Given the description of an element on the screen output the (x, y) to click on. 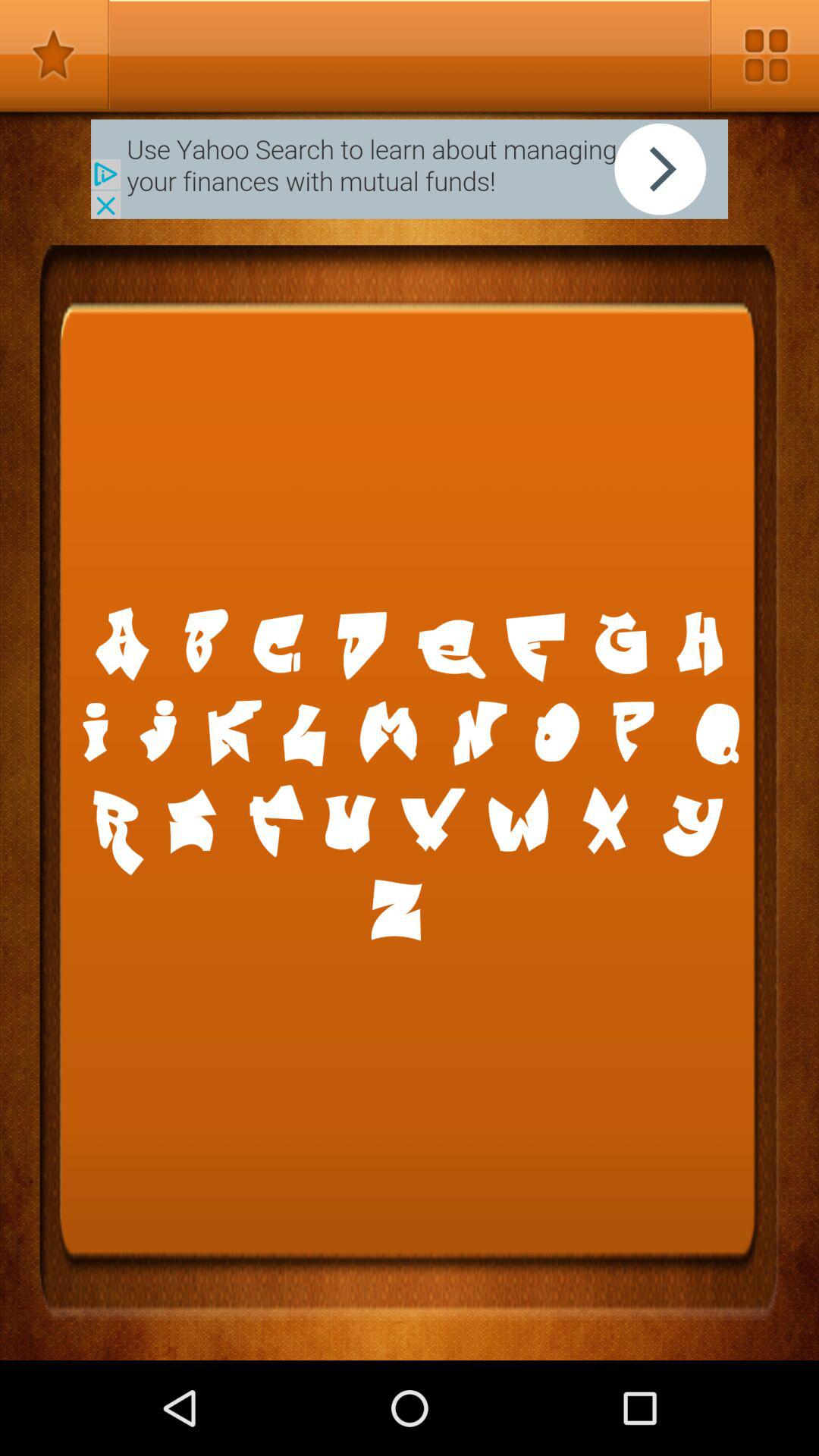
option (764, 54)
